Given the description of an element on the screen output the (x, y) to click on. 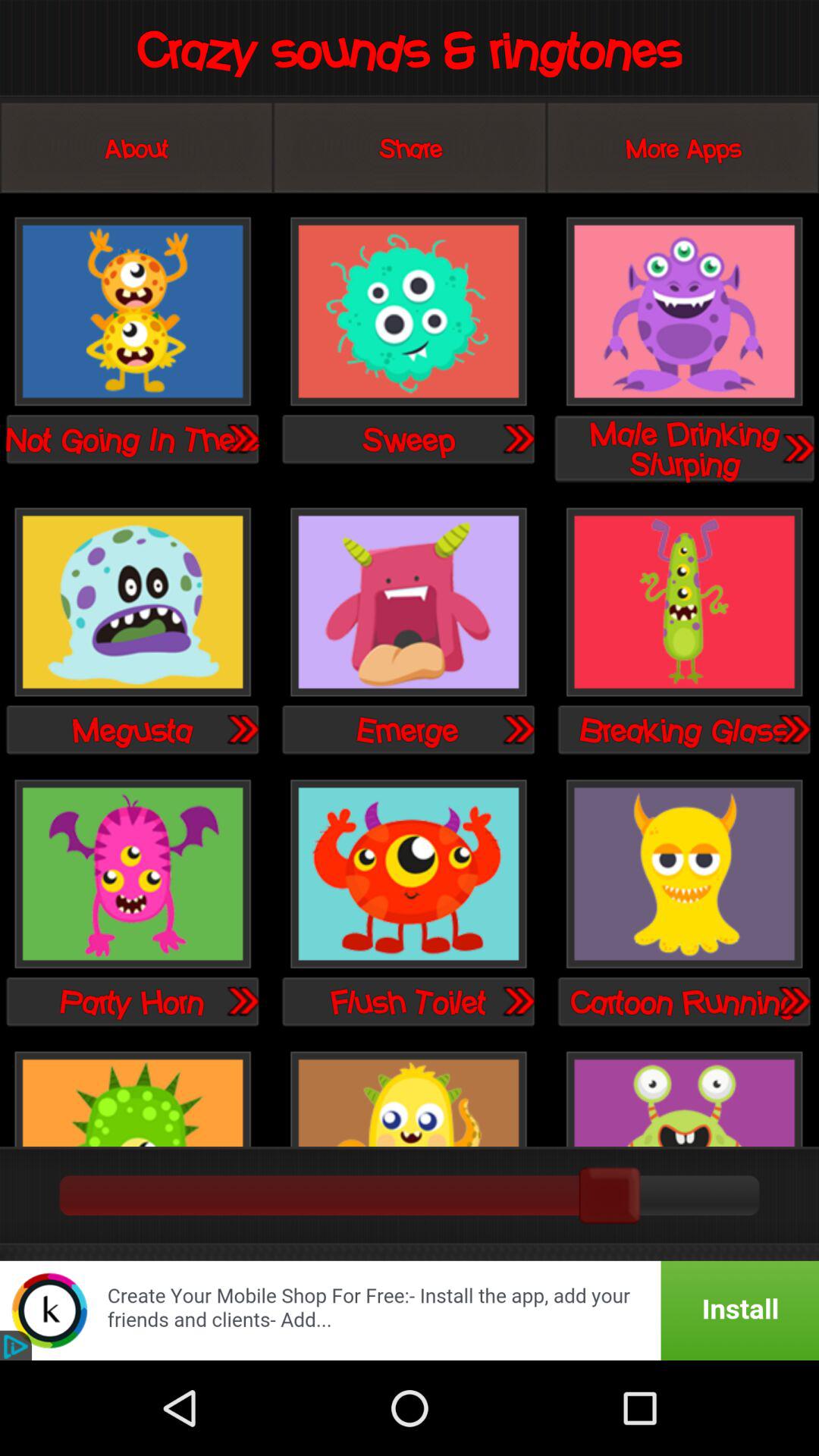
its the crazy one (684, 1096)
